Given the description of an element on the screen output the (x, y) to click on. 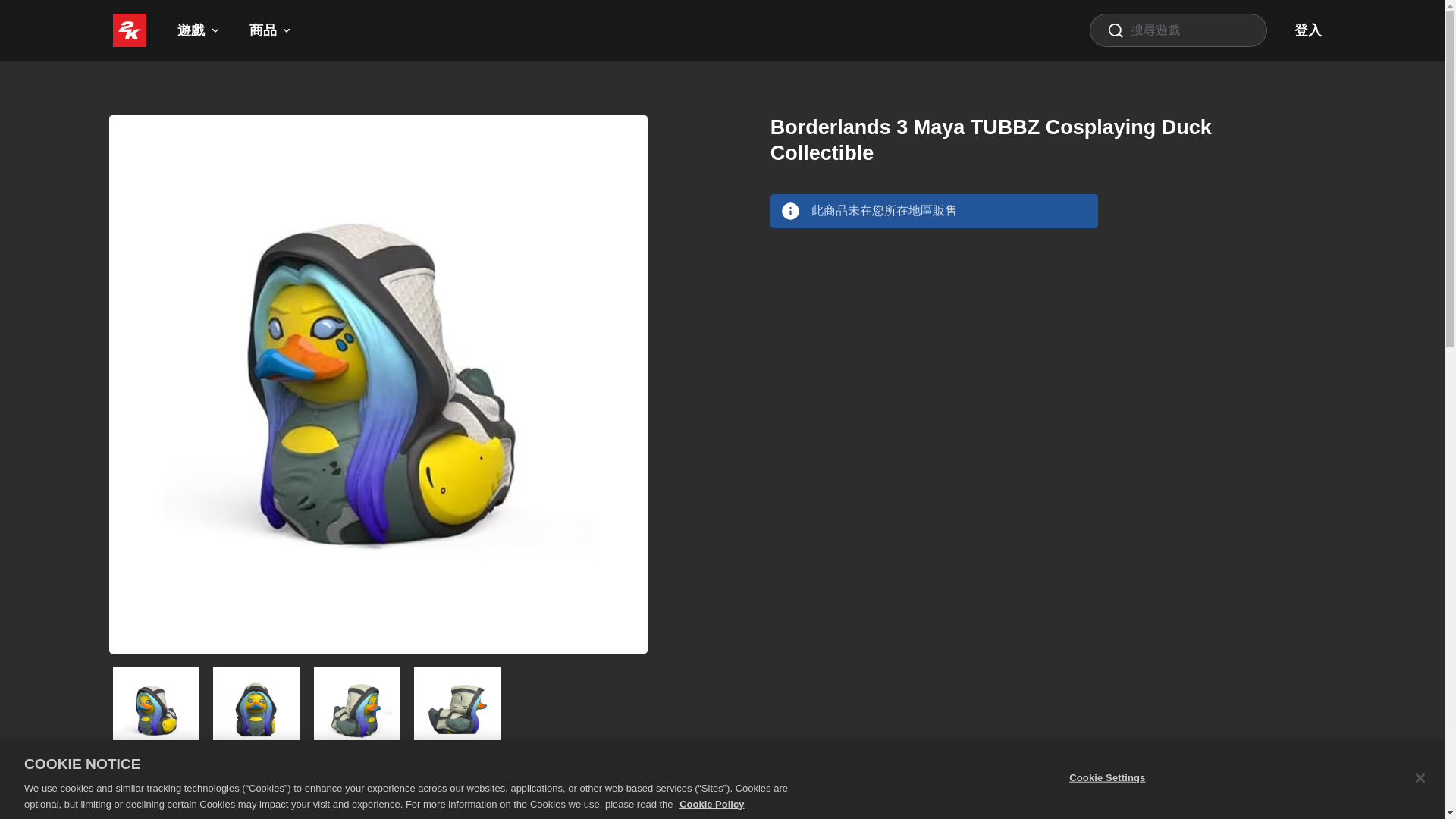
1 (255, 710)
3 (456, 710)
0 (155, 710)
2 (357, 710)
